Given the description of an element on the screen output the (x, y) to click on. 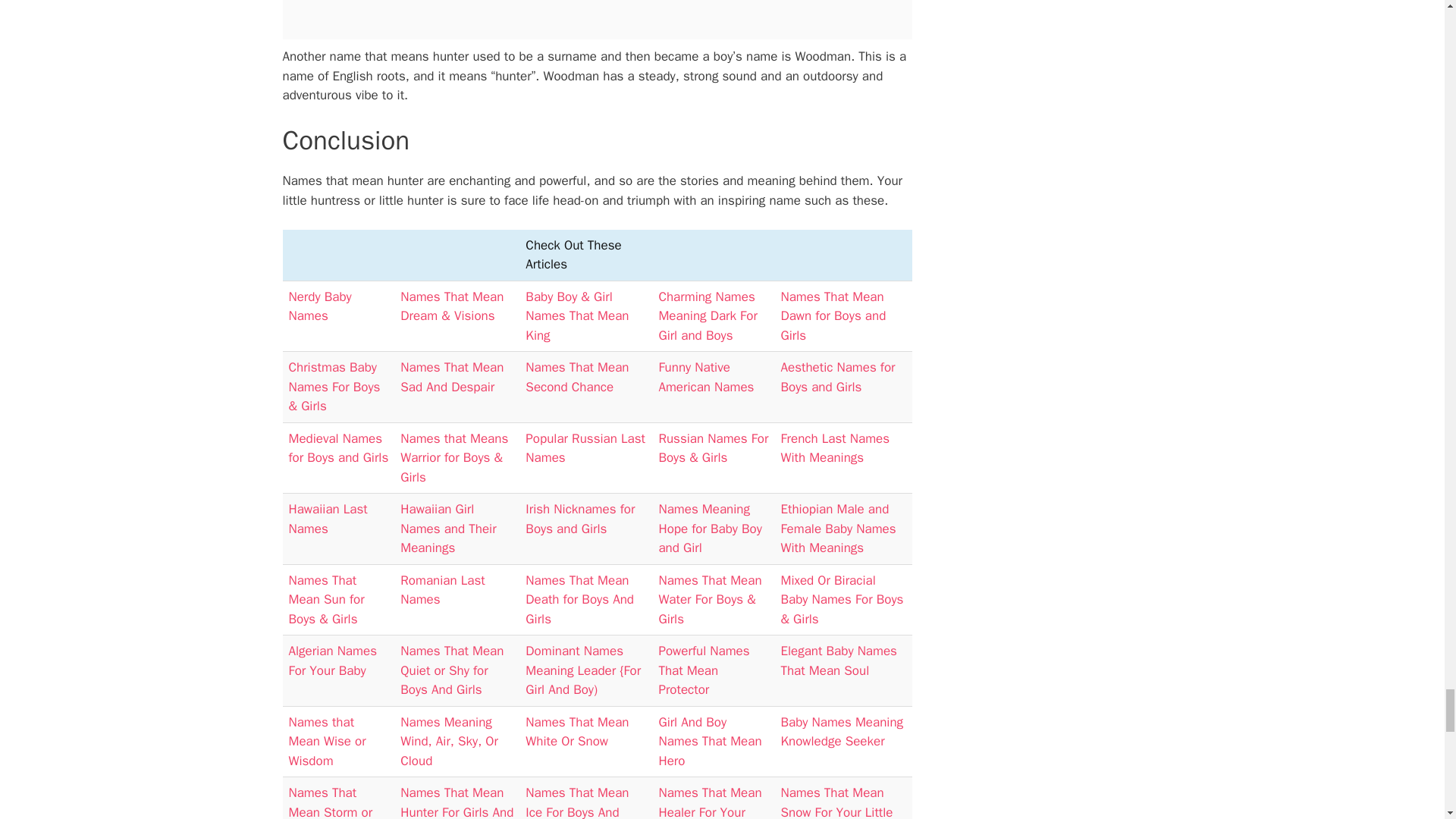
Names That Mean Sad And Despair (451, 376)
Charming Names Meaning Dark For Girl and Boys (707, 316)
Names That Mean Second Chance (576, 376)
Funny Native American Names (706, 376)
Nerdy Baby Names (319, 306)
Names That Mean Dawn for Boys and Girls (832, 316)
Aesthetic Names for Boys and Girls (837, 376)
